Given the description of an element on the screen output the (x, y) to click on. 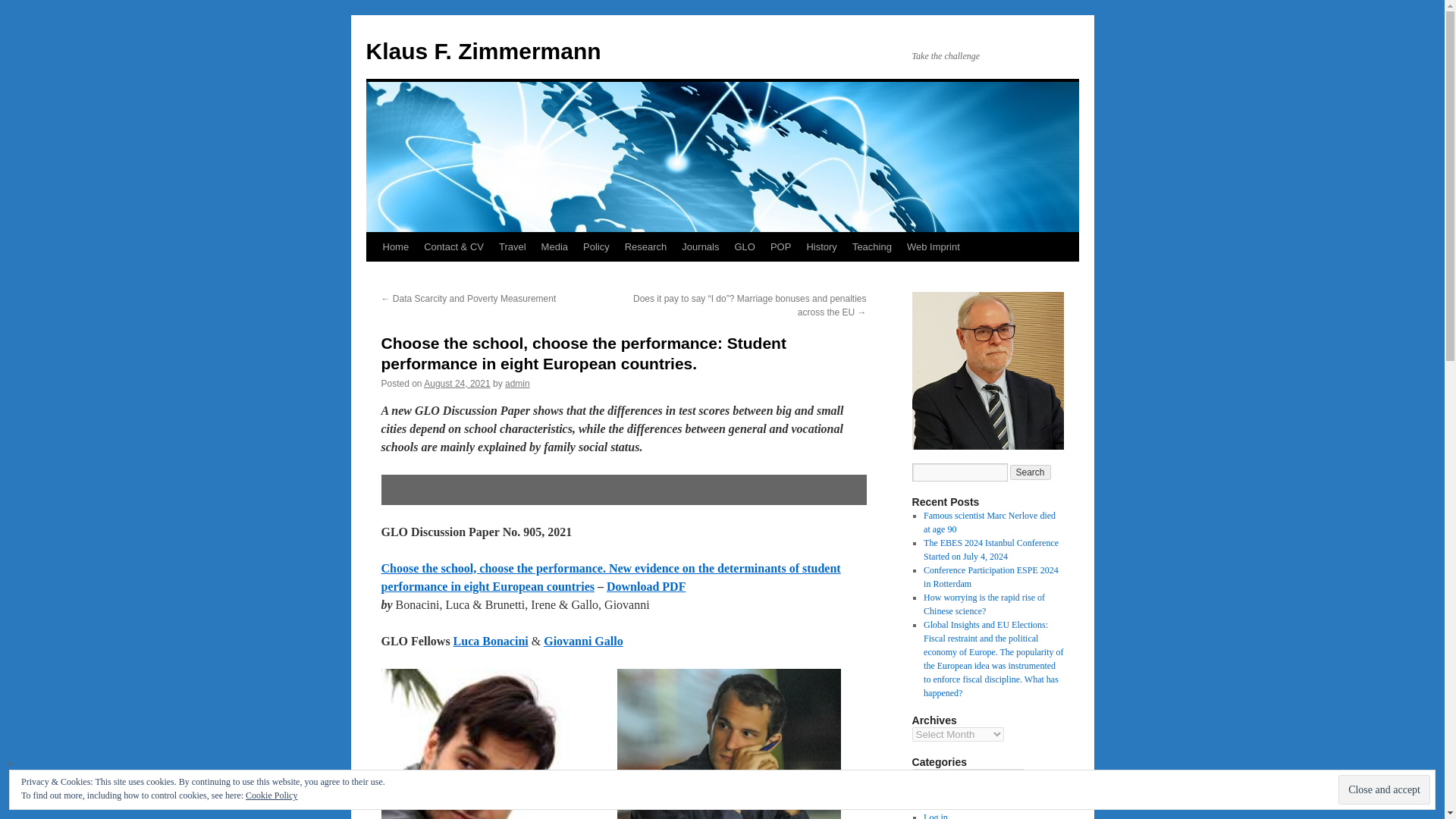
View all posts by admin (517, 383)
Giovanni Gallo (583, 640)
POP (779, 246)
Home (395, 246)
Research (646, 246)
Download PDF (646, 585)
admin (517, 383)
GLO (743, 246)
Policy (596, 246)
Media (554, 246)
Luca Bonacini (490, 640)
Teaching (871, 246)
History (820, 246)
Journals (700, 246)
